Given the description of an element on the screen output the (x, y) to click on. 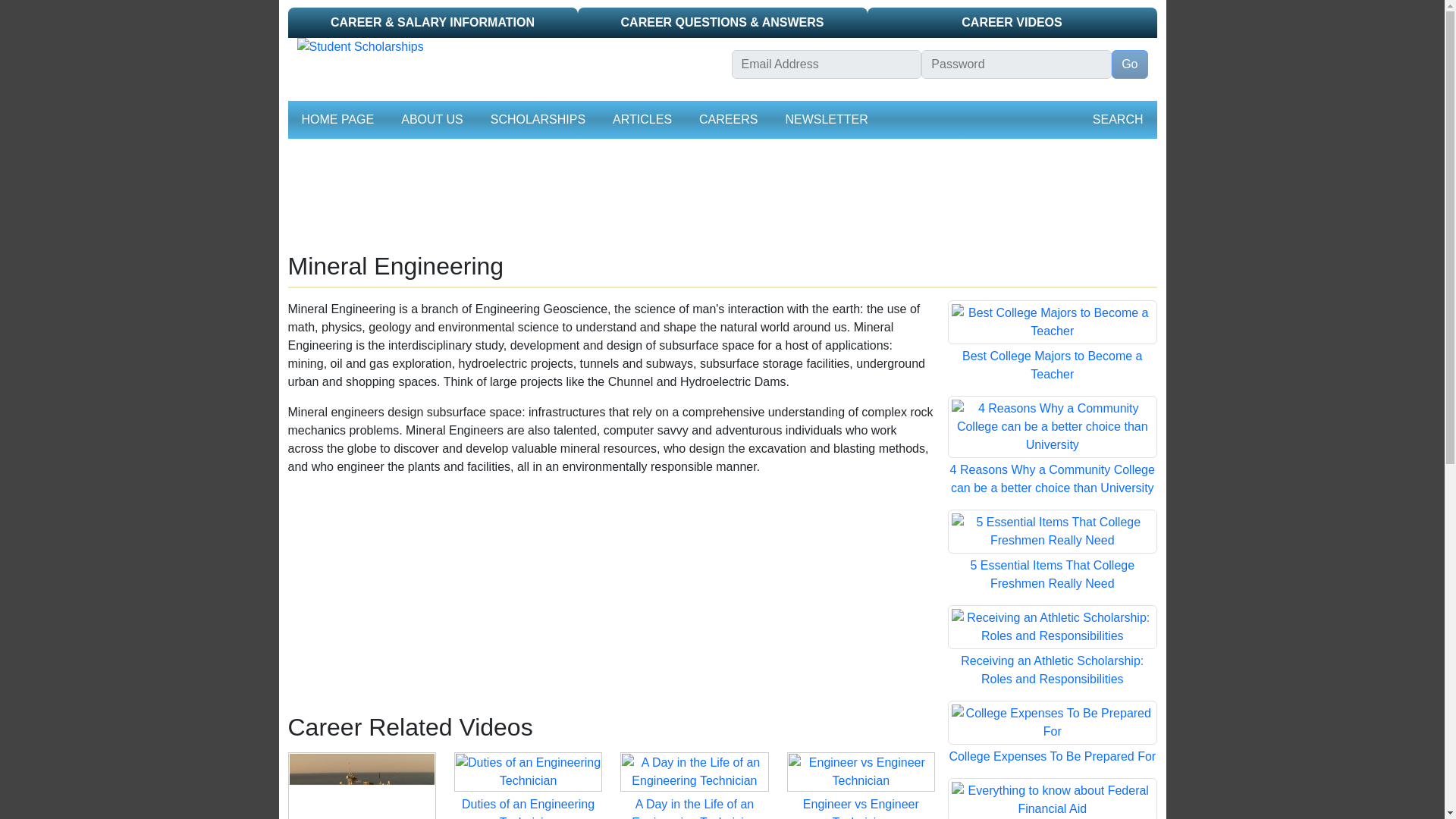
Student Scholarships (505, 46)
ARTICLES (642, 119)
NEWSLETTER (825, 119)
CAREERS (727, 119)
Go (1129, 63)
Duties of an Engineering Technician (527, 808)
SCHOLARSHIPS (537, 119)
Engineer vs Engineer Technician (860, 770)
CAREER VIDEOS (1012, 22)
A Day in the Life of an Engineering Technician  (694, 770)
ABOUT US (431, 119)
A Day in the Life of an Engineering Technician (694, 808)
Duties of an Engineering Technician  (528, 770)
Forgot password? (966, 91)
Engineer vs Engineer Technician (860, 808)
